Given the description of an element on the screen output the (x, y) to click on. 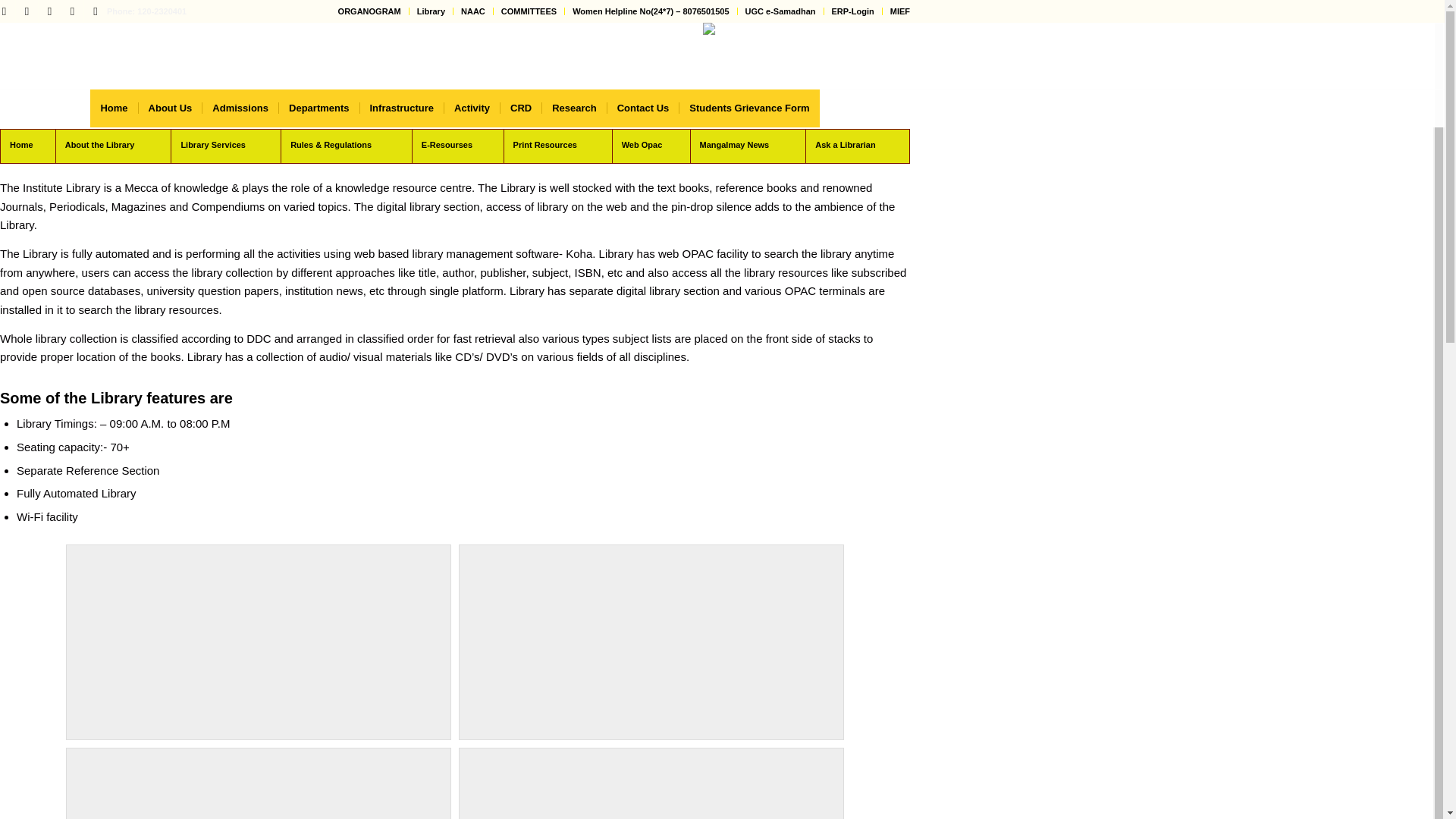
Library (430, 11)
UGC e-Samadhan (780, 11)
Instagram (50, 11)
Facebook (7, 11)
ERP-Login (852, 11)
MIEF (899, 11)
Linkedin (71, 11)
About Us (170, 108)
Twitter (26, 11)
NAAC (472, 11)
Home (113, 108)
Youtube (95, 11)
COMMITTEES (528, 11)
ORGANOGRAM (369, 11)
